Given the description of an element on the screen output the (x, y) to click on. 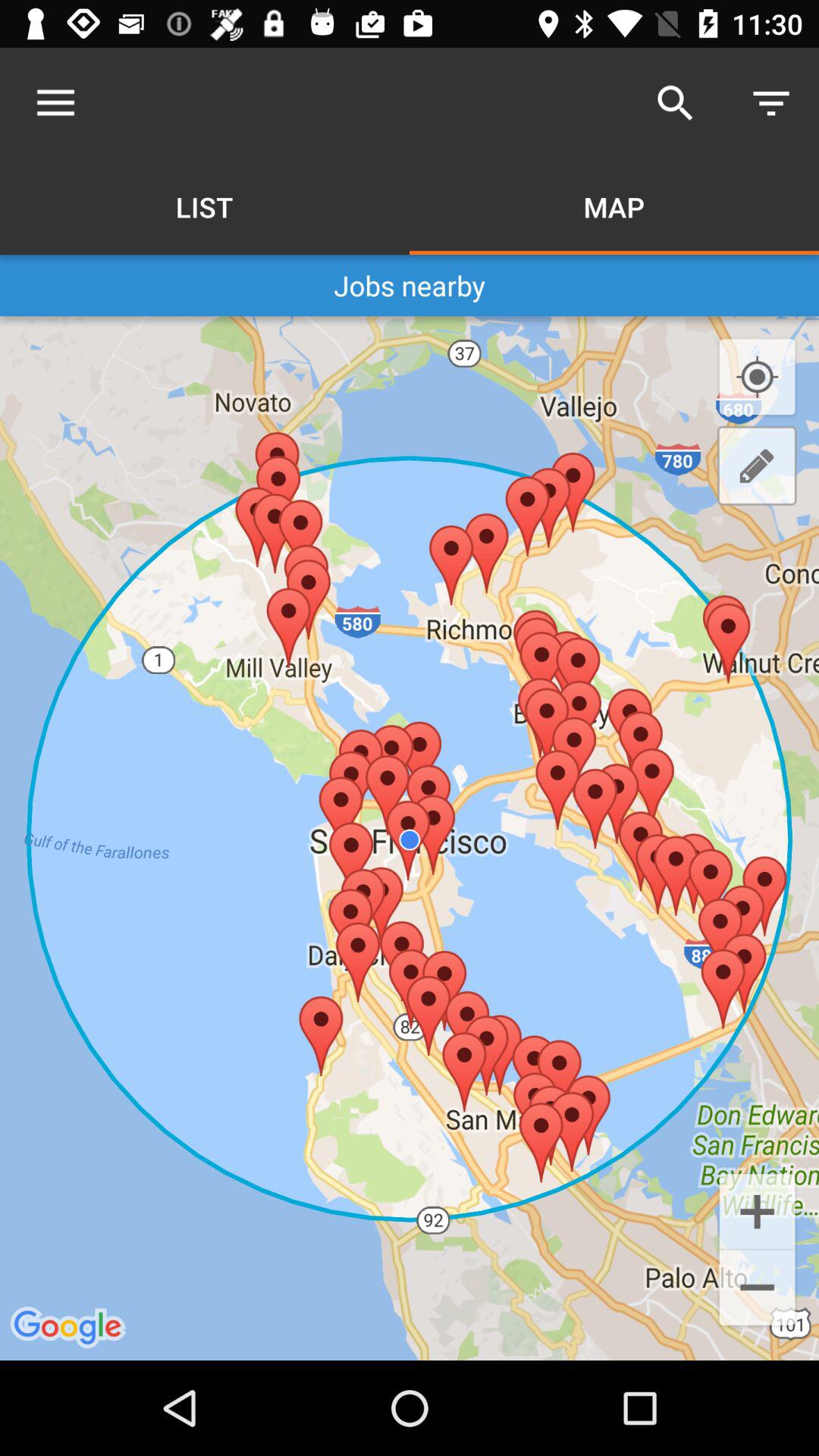
turn on icon above the jobs nearby item (55, 103)
